Given the description of an element on the screen output the (x, y) to click on. 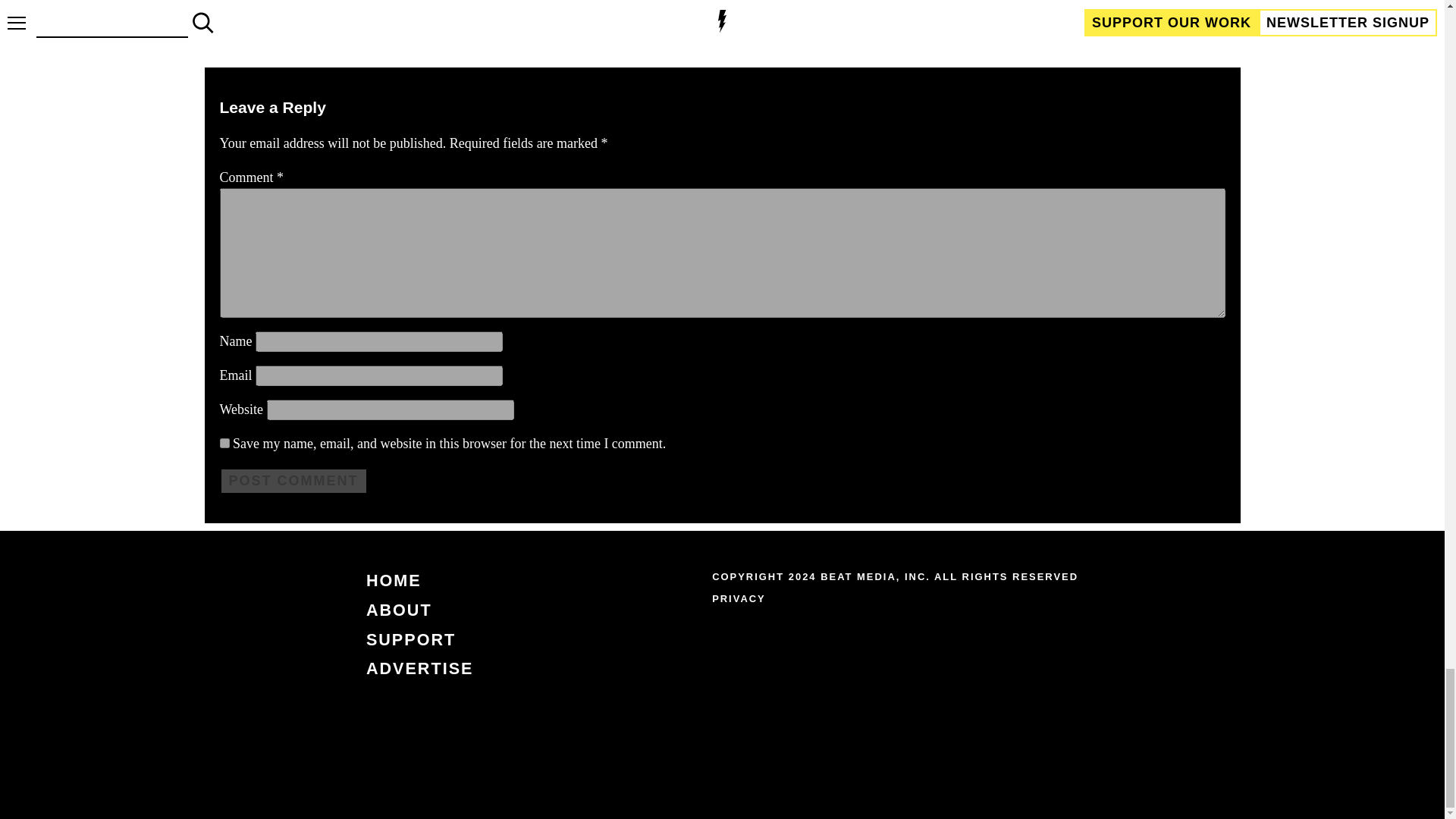
Post Comment (293, 480)
yes (224, 442)
